Given the description of an element on the screen output the (x, y) to click on. 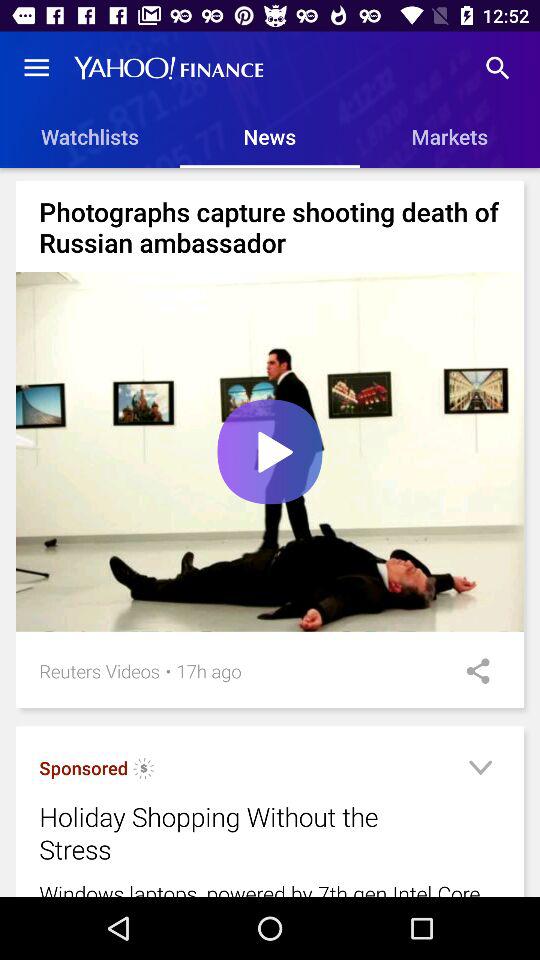
choose photographs capture shooting icon (269, 226)
